Given the description of an element on the screen output the (x, y) to click on. 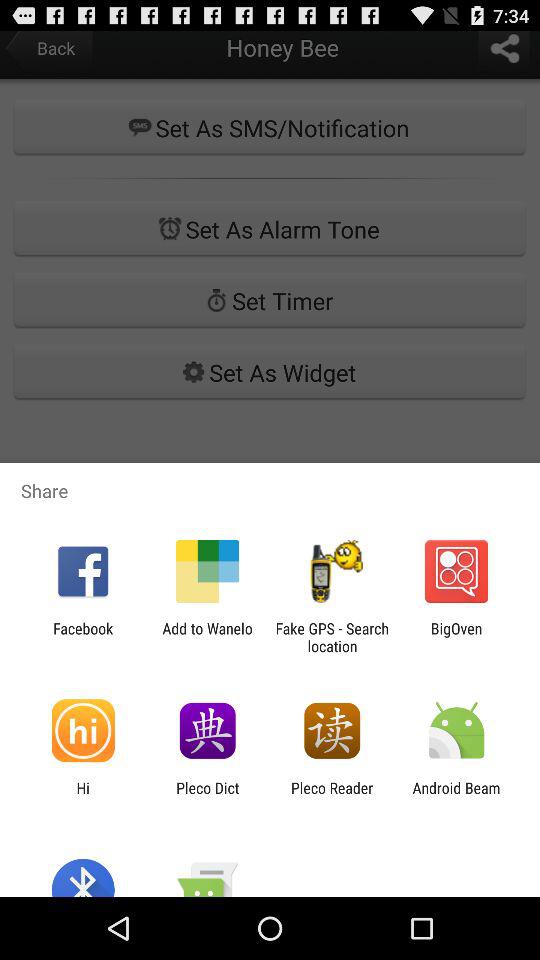
tap app to the right of the pleco reader icon (456, 796)
